Given the description of an element on the screen output the (x, y) to click on. 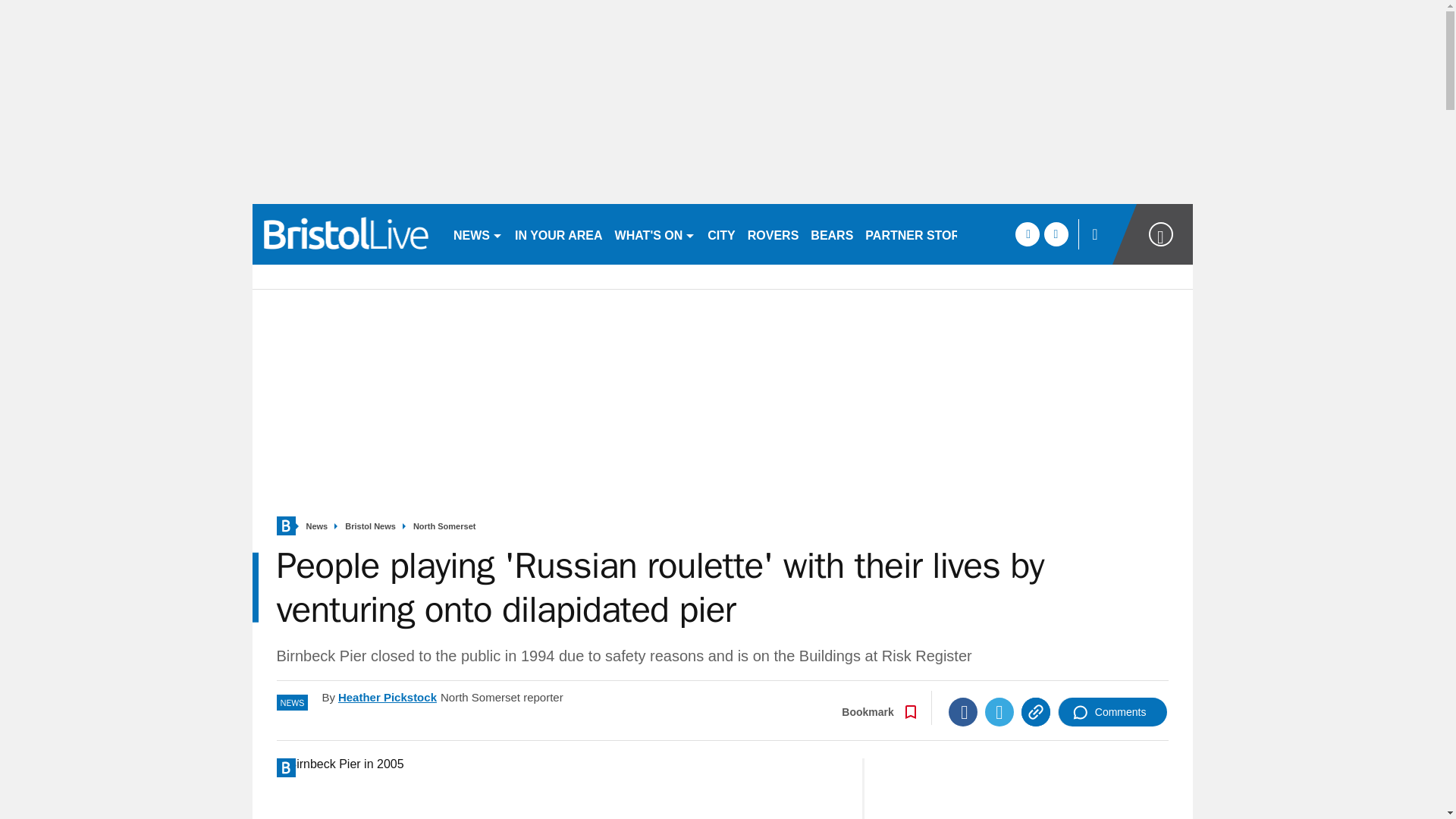
facebook (1026, 233)
ROVERS (773, 233)
WHAT'S ON (654, 233)
Comments (1112, 711)
bristolpost (345, 233)
BEARS (832, 233)
IN YOUR AREA (558, 233)
Twitter (999, 711)
PARTNER STORIES (922, 233)
NEWS (477, 233)
